Given the description of an element on the screen output the (x, y) to click on. 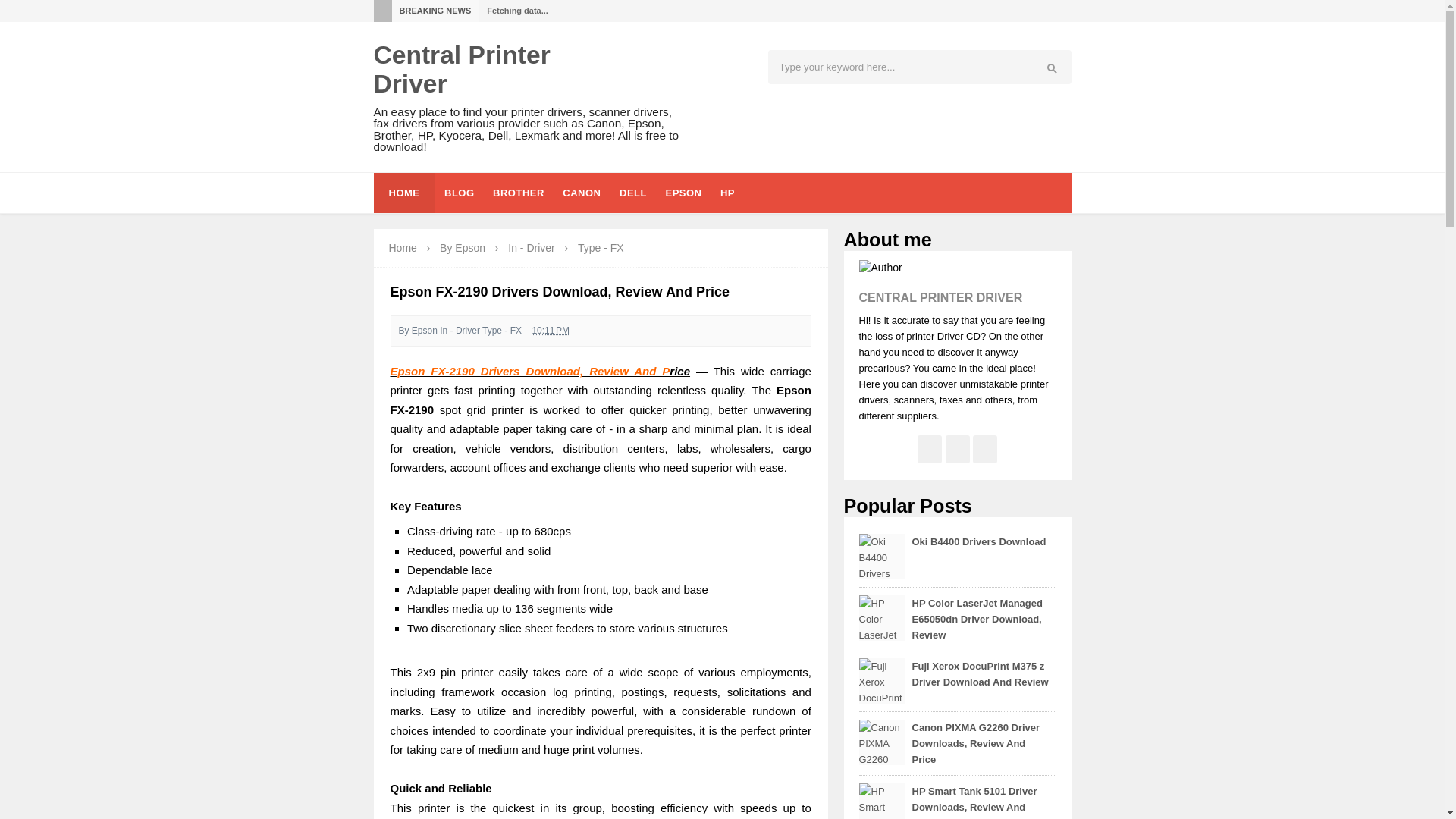
Type - FX (601, 247)
Type - FX (601, 247)
Type your keyword here... (888, 66)
In - Driver (459, 330)
EPSON (683, 192)
Home (402, 247)
HOME (402, 192)
permanent link (550, 330)
In - Driver (532, 247)
BLOG (459, 192)
Epson FX-2190 Drivers Download, Review And P (529, 370)
Home (402, 247)
By Epson (463, 247)
Type - FX (501, 330)
Type your keyword here... (888, 66)
